Given the description of an element on the screen output the (x, y) to click on. 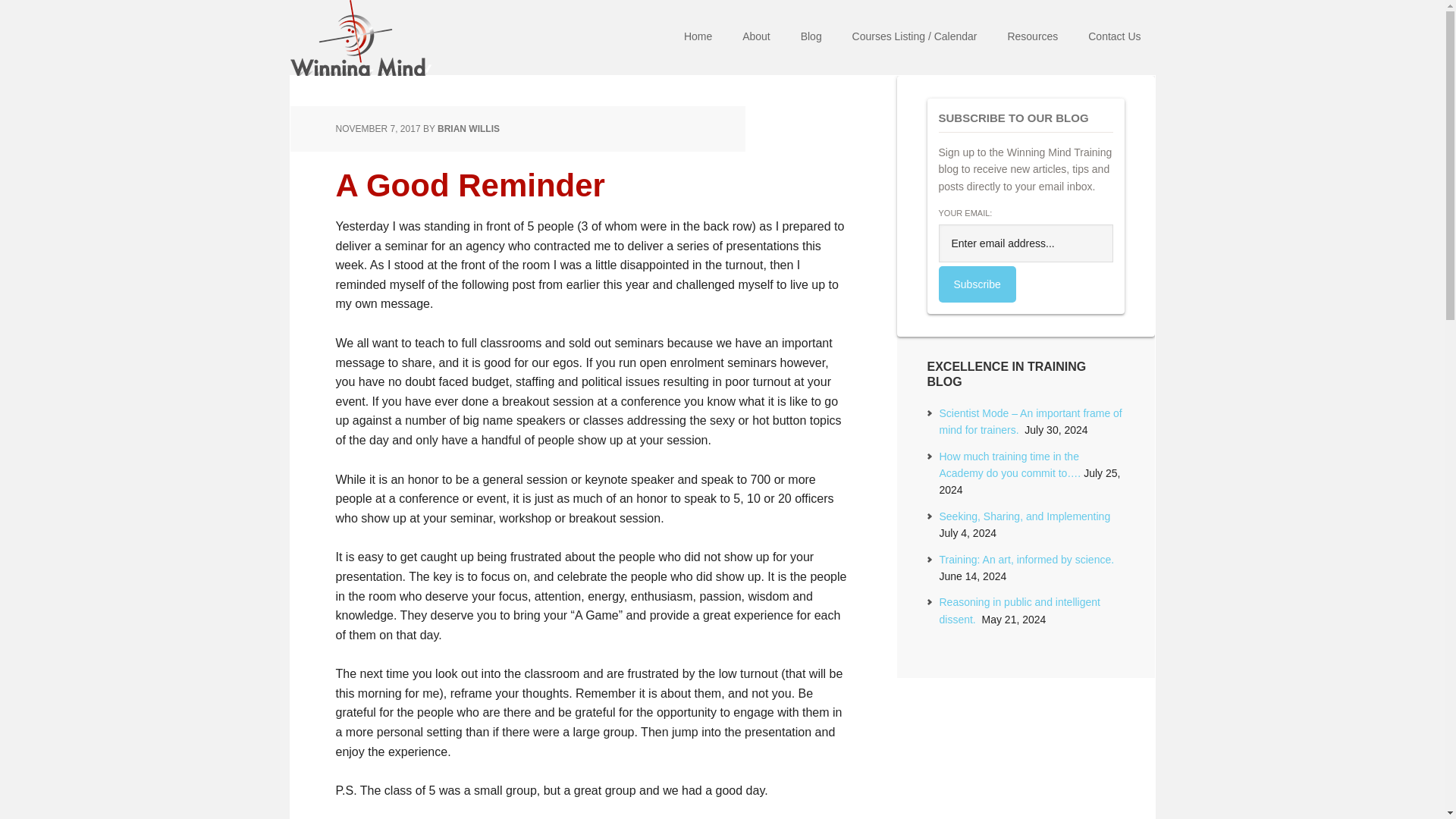
Subscribe (977, 284)
Resources (1031, 37)
Winning Mind Training (387, 38)
Seeking, Sharing, and Implementing (1024, 516)
Contact Us (1114, 37)
BRIAN WILLIS (468, 128)
Reasoning in public and intelligent dissent.  (1019, 610)
Training: An art, informed by science. (1026, 559)
Enter email address... (1026, 243)
Subscribe (977, 284)
